Given the description of an element on the screen output the (x, y) to click on. 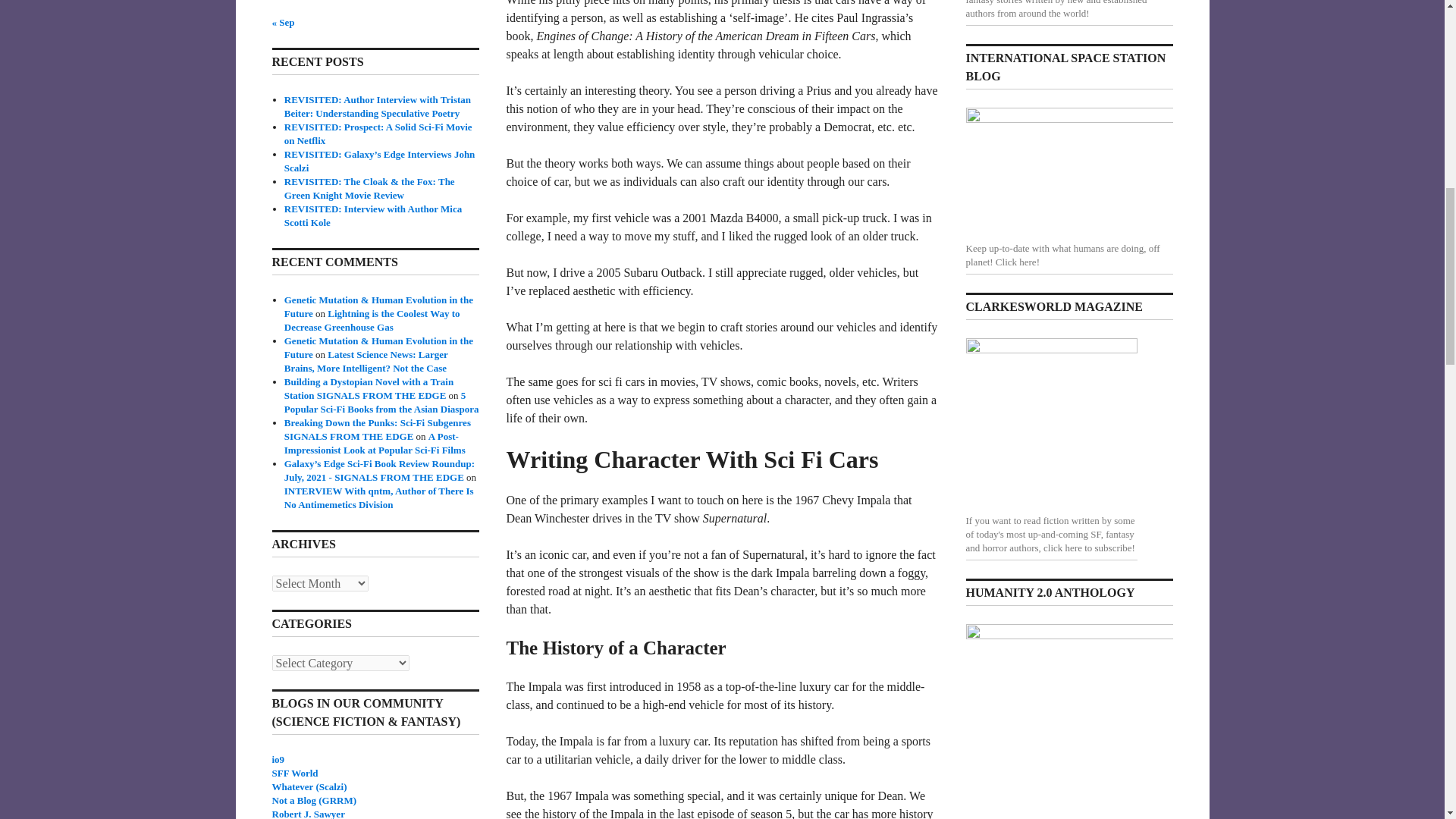
REVISITED: Prospect: A Solid Sci-Fi Movie on Netflix (377, 133)
REVISITED: Interview with Author Mica Scotti Kole (373, 215)
io9 (276, 758)
Lightning is the Coolest Way to Decrease Greenhouse Gas (371, 319)
INTERNATIONAL SPACE STATION BLOG (1069, 172)
Robert J. Sawyer (306, 813)
A Post-Impressionist Look at Popular Sci-Fi Films (374, 442)
